Given the description of an element on the screen output the (x, y) to click on. 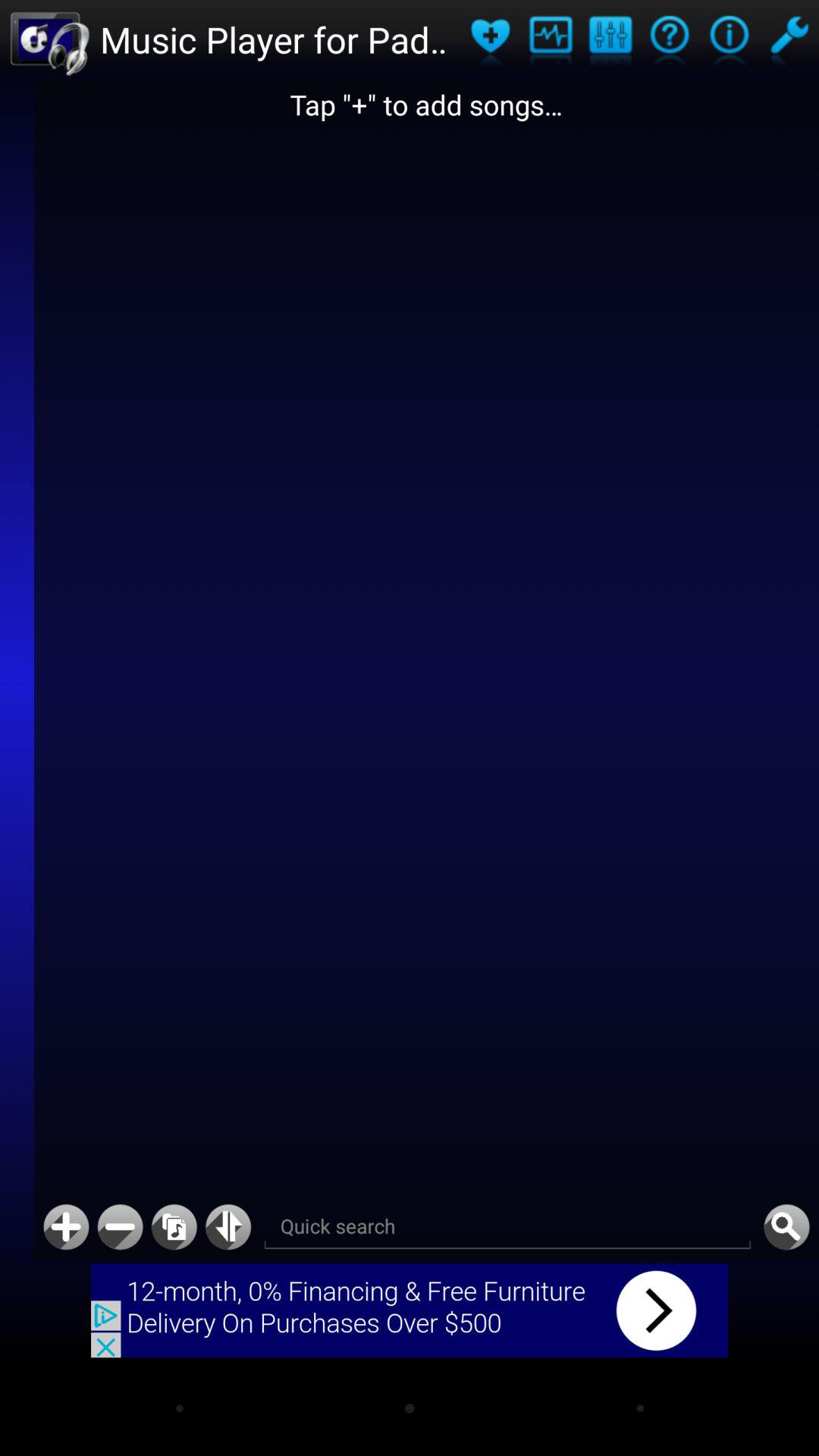
minimize maximize minus plus (120, 1226)
